Given the description of an element on the screen output the (x, y) to click on. 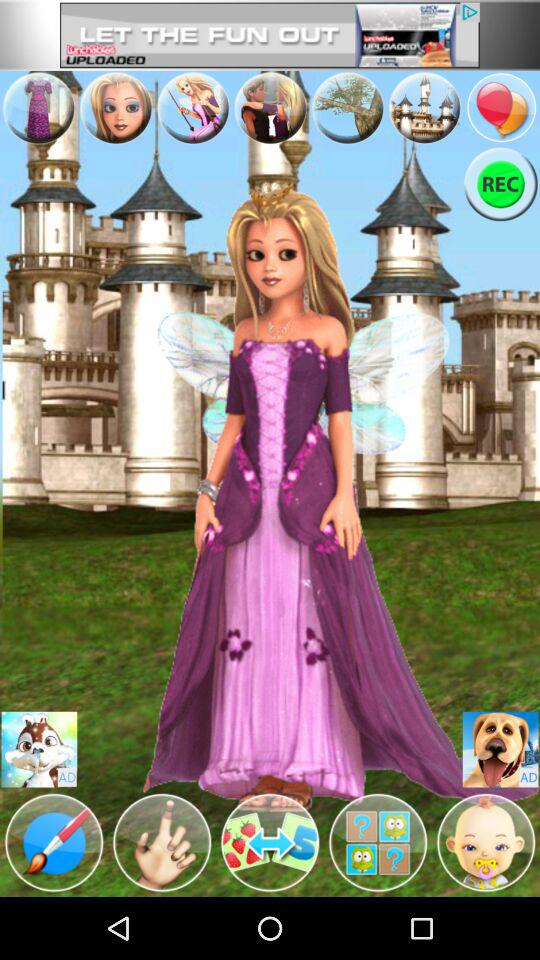
go to advertisement page (270, 35)
